Given the description of an element on the screen output the (x, y) to click on. 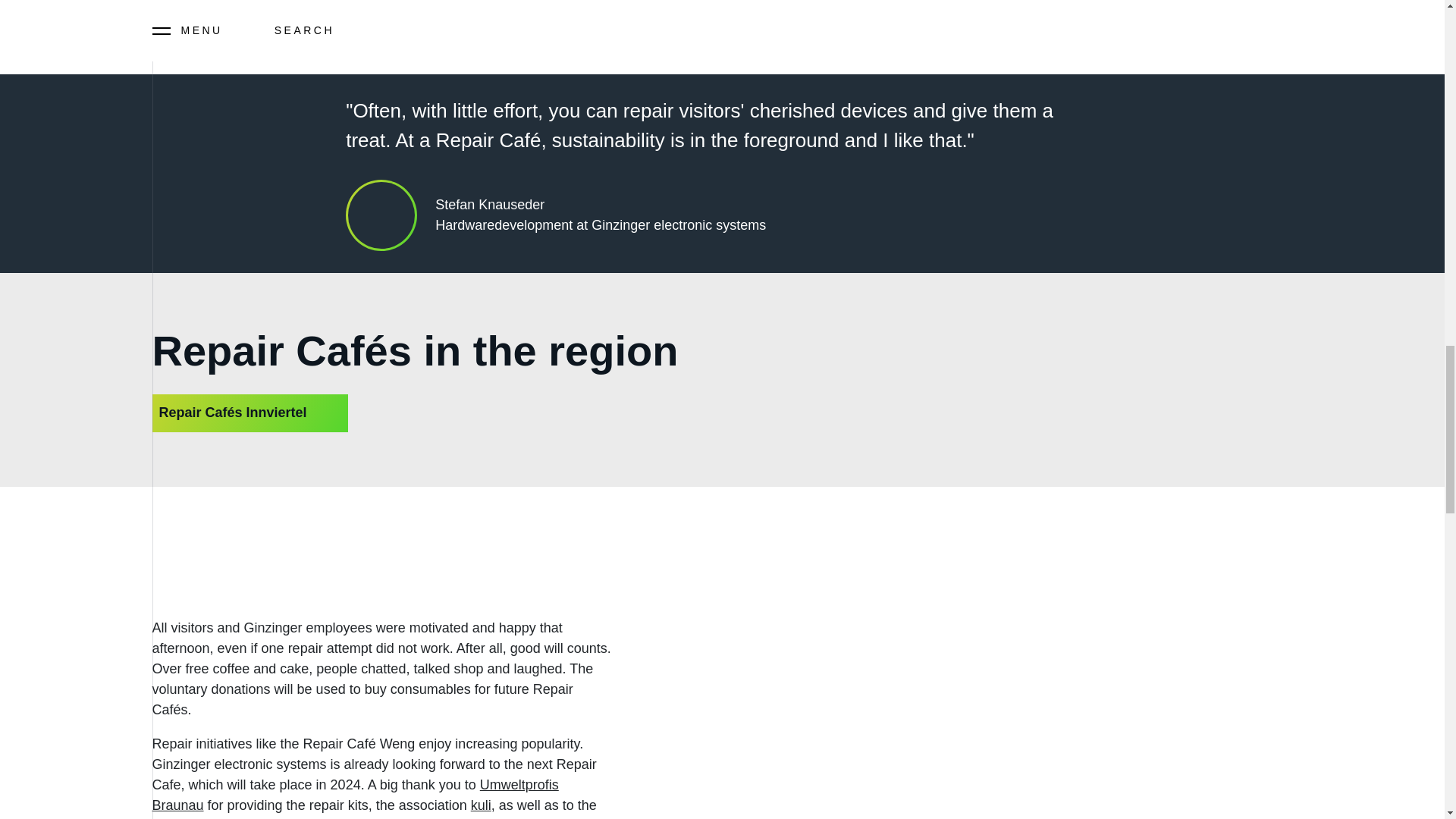
Umweltprofis Braunau (354, 795)
kuli (481, 805)
